Given the description of an element on the screen output the (x, y) to click on. 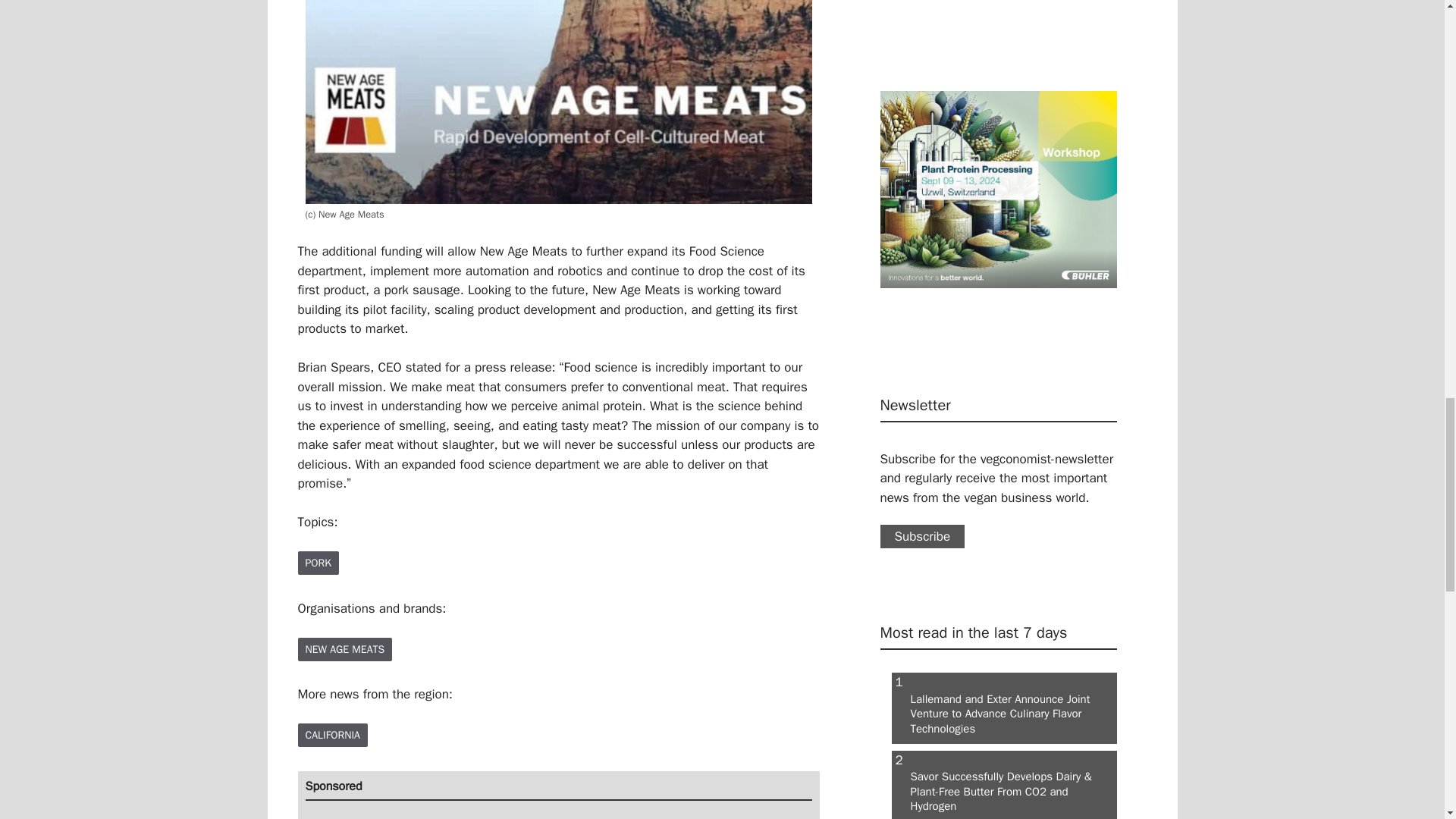
Pork (317, 562)
New Age Meats (344, 649)
California (331, 734)
